Given the description of an element on the screen output the (x, y) to click on. 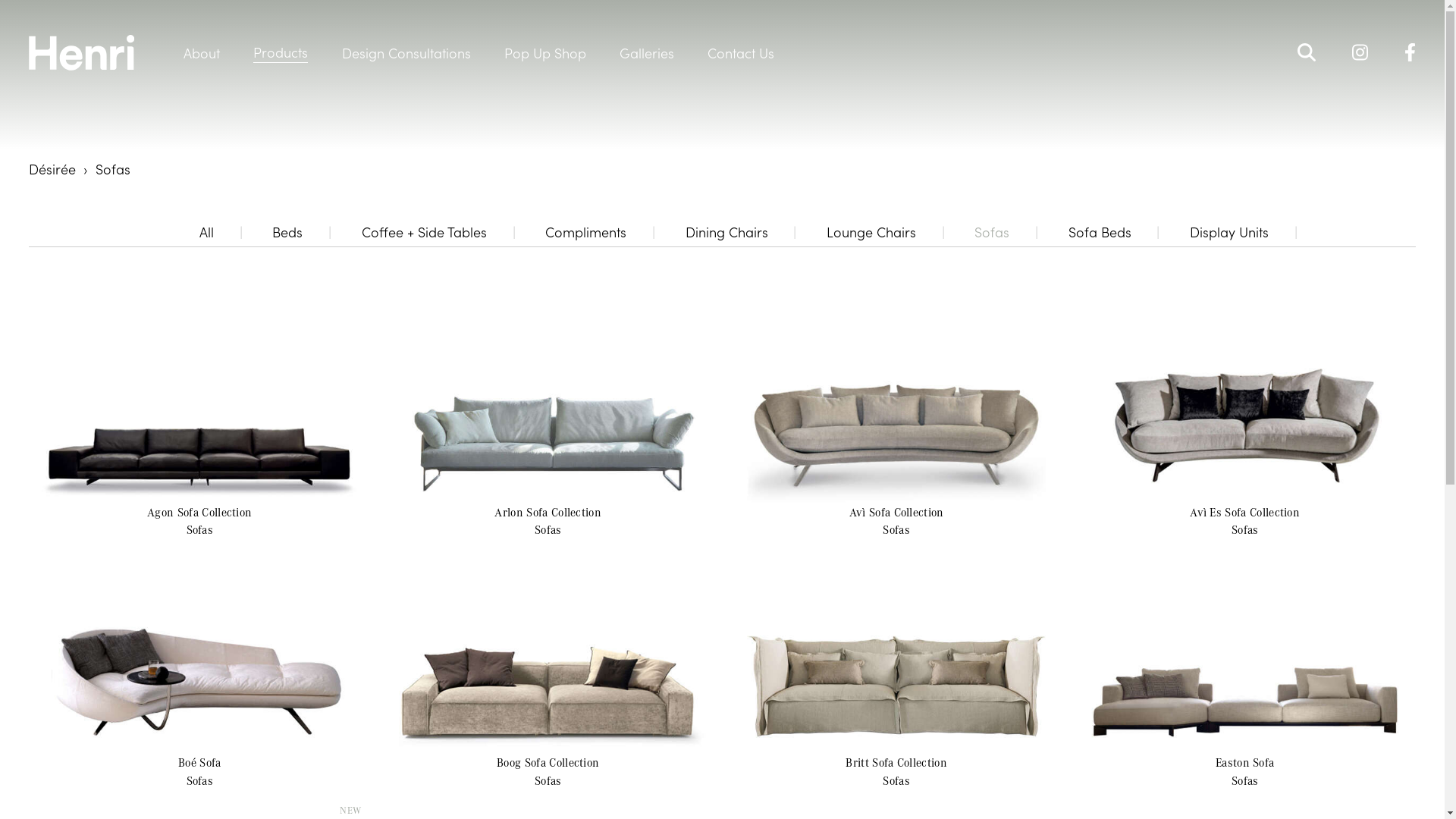
Compliments Element type: text (585, 231)
Coffee + Side Tables Element type: text (423, 231)
Agon Sofa Collection Element type: text (199, 512)
Contact Us Element type: text (740, 52)
Display Units Element type: text (1228, 231)
Sofas Element type: text (896, 529)
Sofa Beds Element type: text (1099, 231)
Sofas Element type: text (1244, 529)
Beds Element type: text (287, 231)
Sofas Element type: text (547, 529)
Dining Chairs Element type: text (726, 231)
Arlon - Sofa Collection / Sofas Element type: hover (547, 399)
Sofas Element type: text (1244, 780)
Lounge Chairs Element type: text (871, 231)
Sofas Element type: text (896, 780)
Sofas Element type: text (991, 231)
About Element type: text (201, 52)
Sofas Element type: text (199, 529)
Boog - Sofa Collection / Sofas Element type: hover (547, 649)
Arlon Sofa Collection Element type: text (547, 512)
Agon - Sofa Collection / Sofas Element type: hover (199, 399)
Sofas Element type: text (547, 780)
Design Consultations Element type: text (406, 52)
Galleries Element type: text (646, 52)
Easton Sofa Element type: text (1244, 762)
Boog Sofa Collection Element type: text (547, 762)
Easton - Sofa / Sofas Element type: hover (1244, 649)
Pop Up Shop Element type: text (545, 52)
Britt - Sofa Collection / Sofas Element type: hover (895, 649)
Sofas Element type: text (199, 780)
All Element type: text (206, 231)
Britt Sofa Collection Element type: text (896, 762)
